Given the description of an element on the screen output the (x, y) to click on. 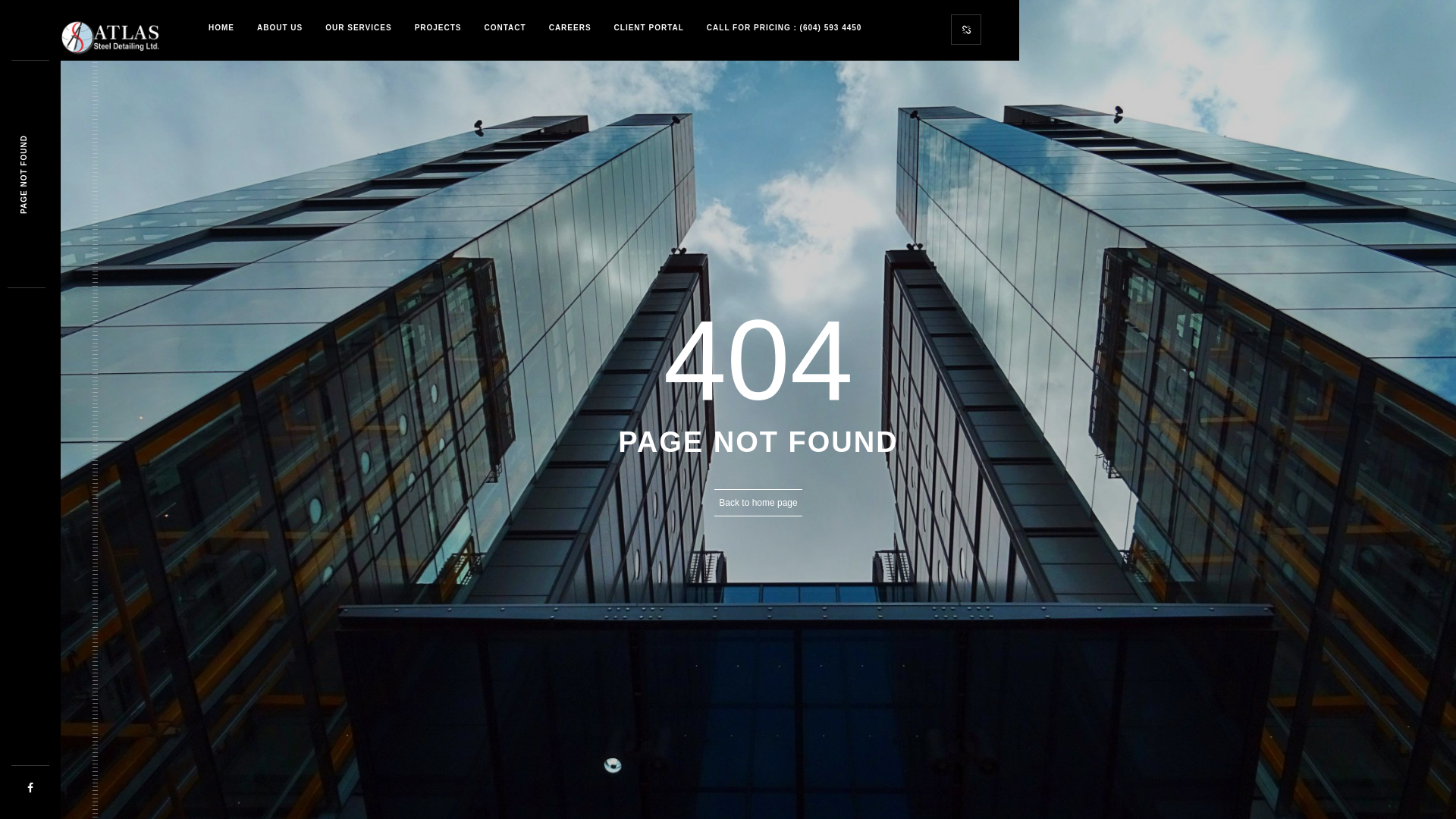
OUR SERVICES Element type: text (357, 27)
CAREERS Element type: text (569, 27)
CALL FOR PRICING : (604) 593 4450 Element type: text (784, 27)
Back to home page Element type: text (757, 502)
ABOUT US Element type: text (279, 27)
PAGE NOT FOUND Element type: text (58, 138)
CLIENT PORTAL Element type: text (648, 27)
HOME Element type: text (221, 27)
CONTACT Element type: text (505, 27)
PROJECTS Element type: text (438, 27)
